Given the description of an element on the screen output the (x, y) to click on. 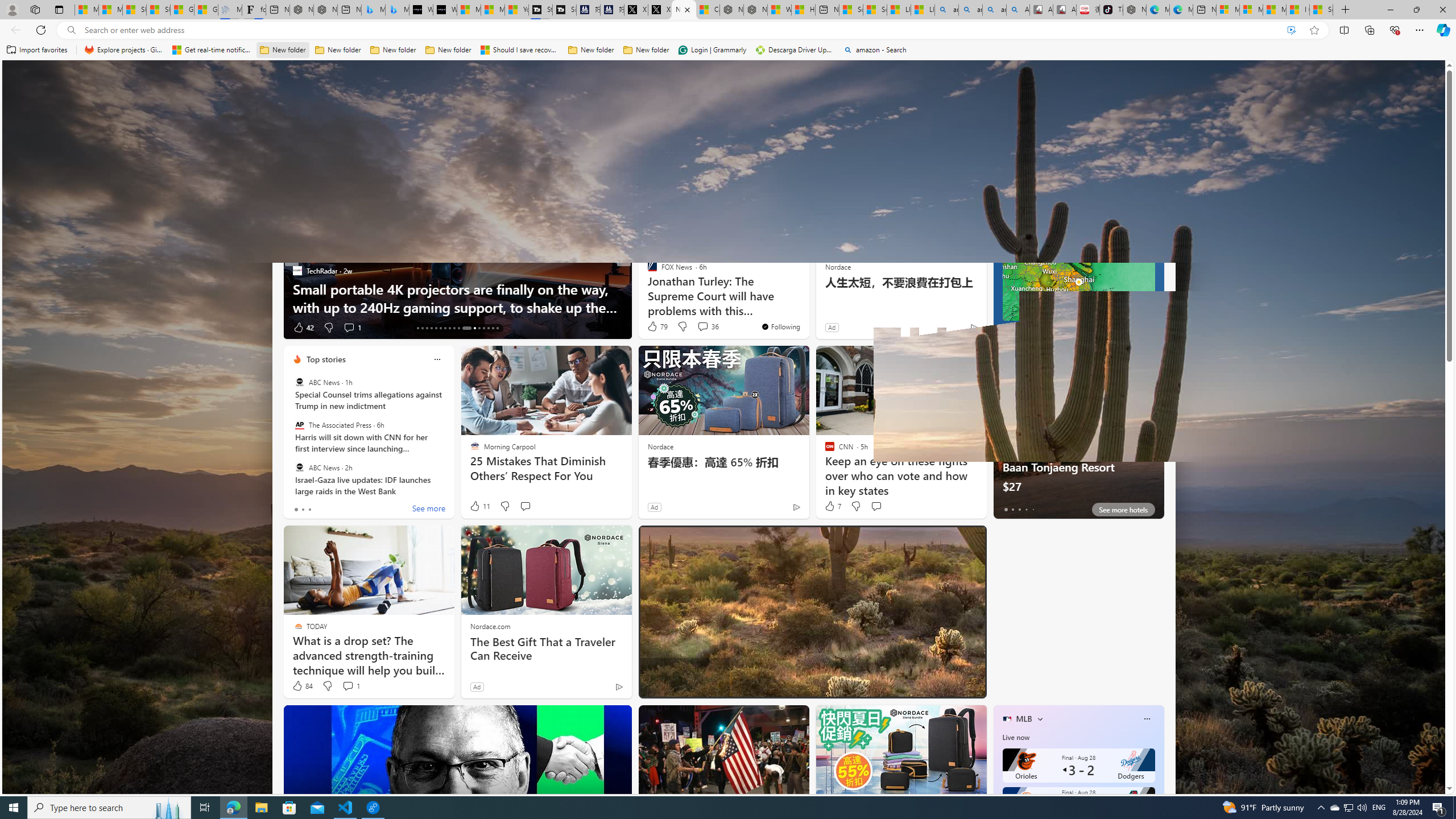
Gilma and Hector both pose tropical trouble for Hawaii (205, 9)
Try Edge (1078, 689)
Amazon Echo Robot - Search Images (1018, 9)
Minimize (1390, 9)
Class: weather-arrow-glyph (1152, 208)
Refresh (40, 29)
Ad (476, 686)
Planning to Organize (647, 270)
Play (465, 151)
7 Like (831, 505)
tab-1 (1012, 509)
Settings and more (Alt+F) (1419, 29)
Top stories (325, 359)
Health (746, 151)
Address and search bar (680, 29)
